Given the description of an element on the screen output the (x, y) to click on. 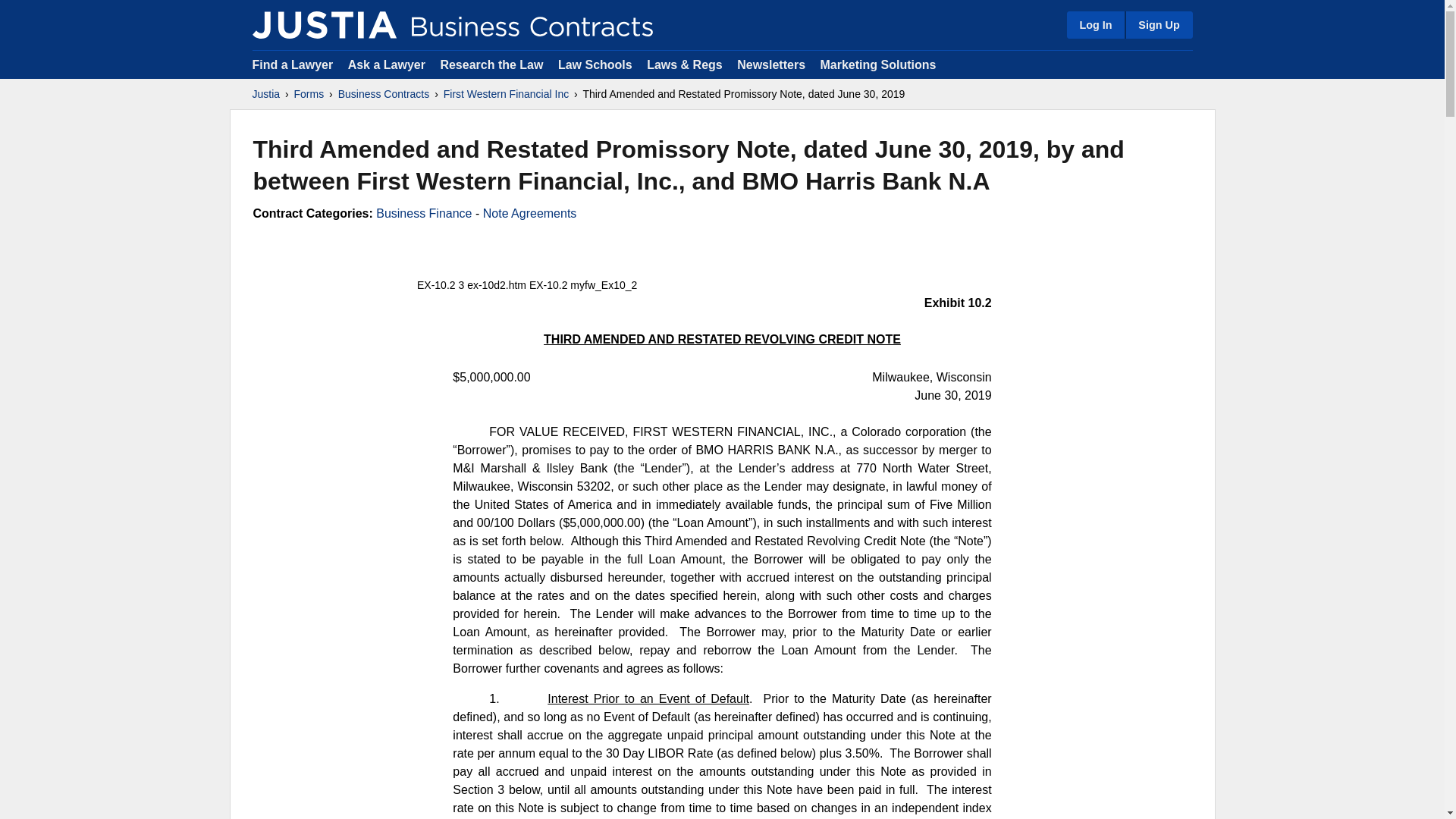
Note Agreements (529, 213)
Law Schools (594, 64)
Log In (1094, 24)
Justia (265, 93)
Sign Up (1158, 24)
Ask a Lawyer (388, 64)
First Western Financial Inc (506, 93)
Business Finance (423, 213)
Justia (323, 24)
Research the Law (491, 64)
Forms (309, 93)
Find a Lawyer (292, 64)
Marketing Solutions (877, 64)
Business Contracts (383, 93)
Newsletters (770, 64)
